Given the description of an element on the screen output the (x, y) to click on. 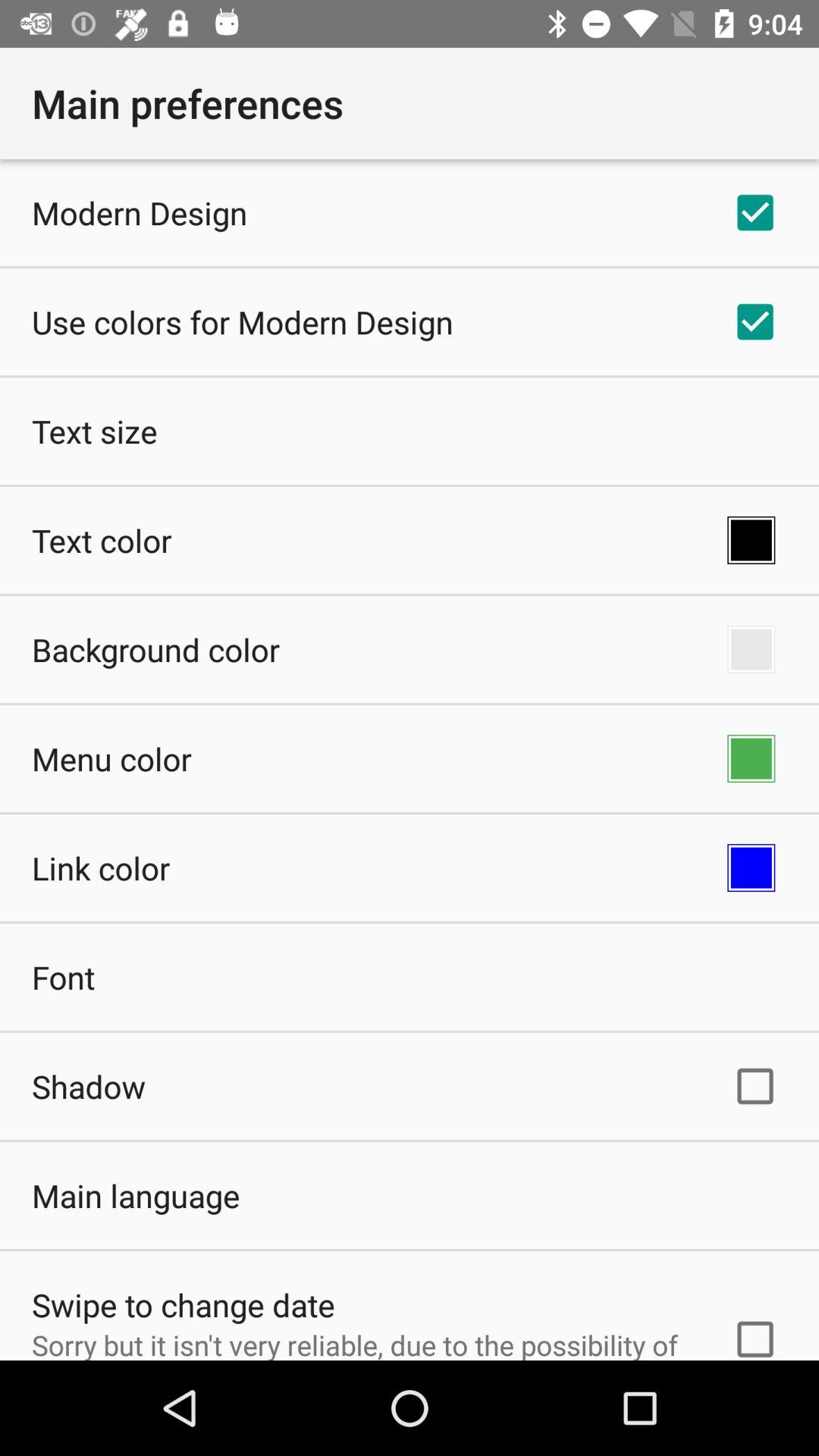
select item above text color (94, 430)
